Given the description of an element on the screen output the (x, y) to click on. 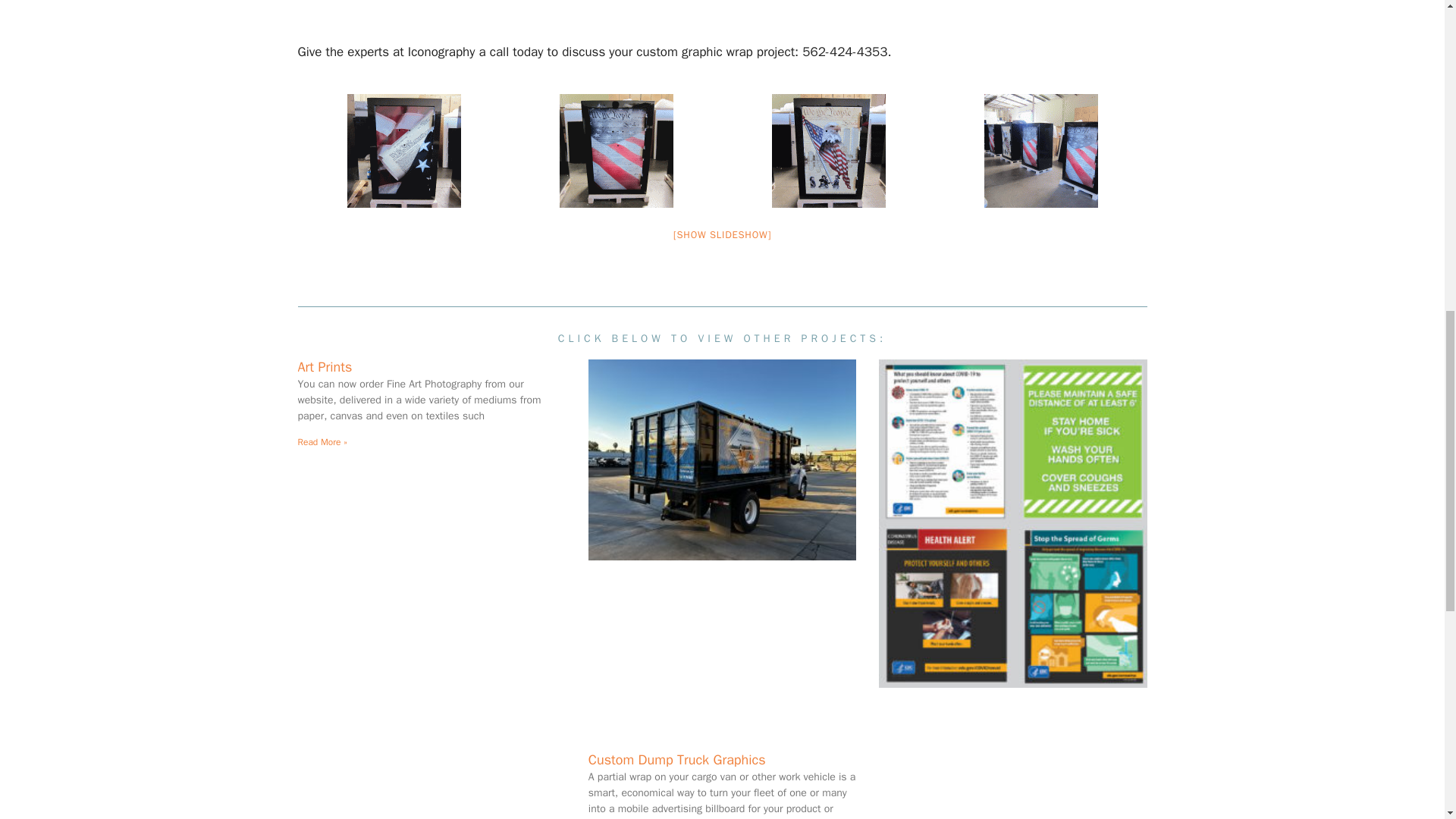
Patriot Safe Wraps (403, 151)
Patriot Safe Wraps (615, 151)
Patriot Safe Wraps (1040, 151)
Patriot Safe Wraps (828, 151)
